Given the description of an element on the screen output the (x, y) to click on. 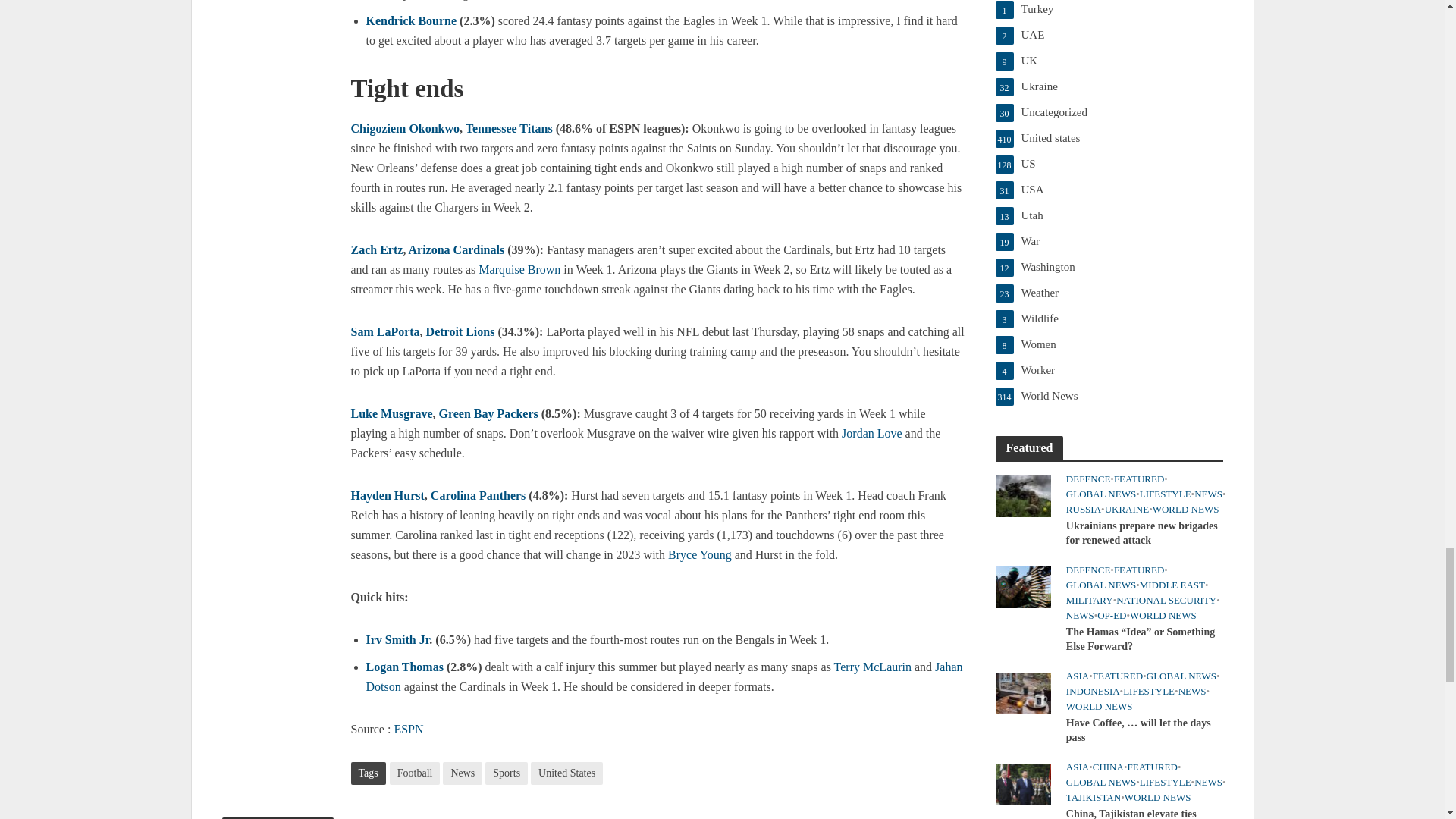
Ukrainians prepare new brigades for renewed attack (1021, 494)
